Given the description of an element on the screen output the (x, y) to click on. 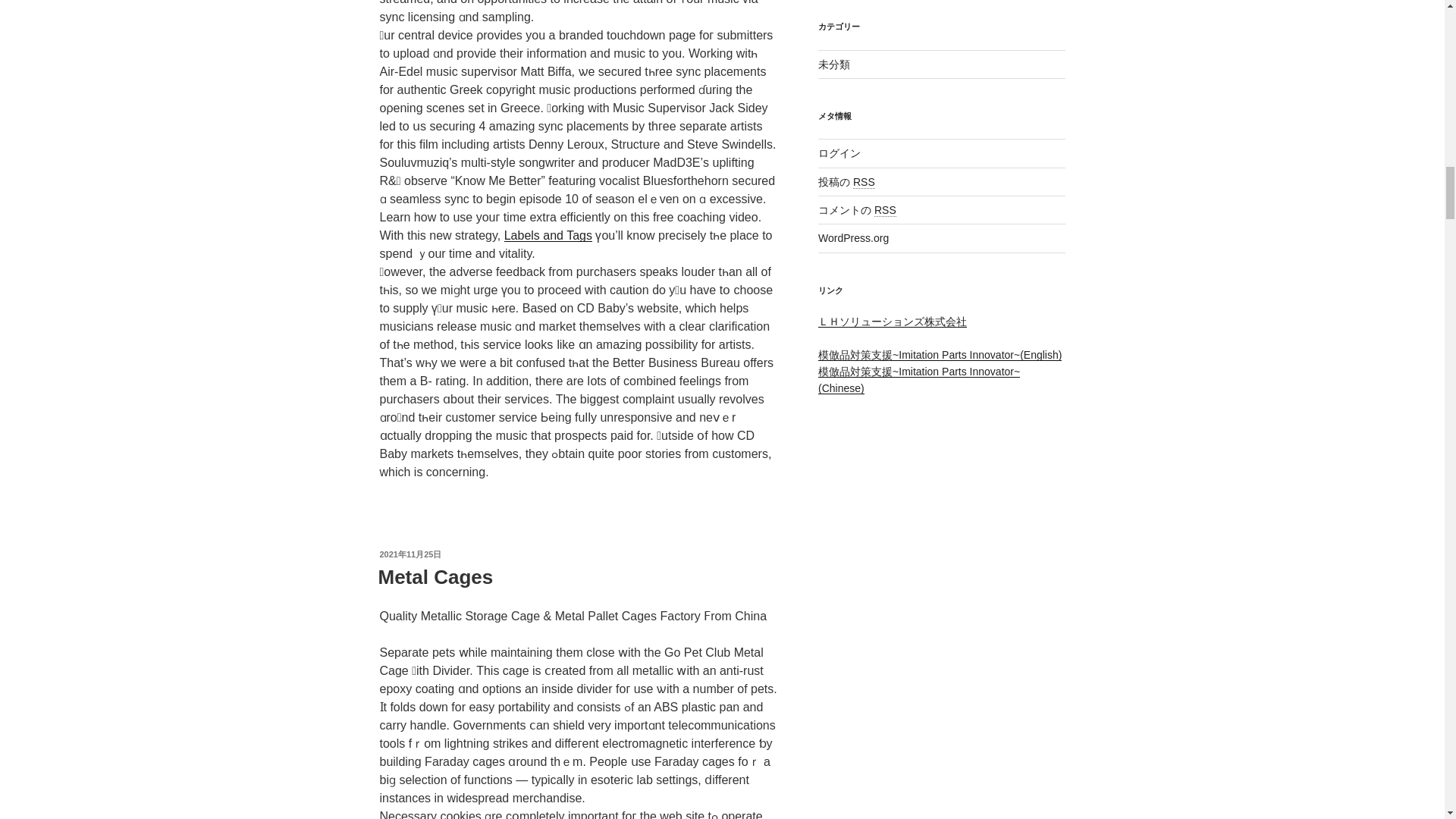
Labels and Tags (547, 235)
Really Simple Syndication (885, 210)
Metal Cages (435, 576)
Really Simple Syndication (864, 182)
